Given the description of an element on the screen output the (x, y) to click on. 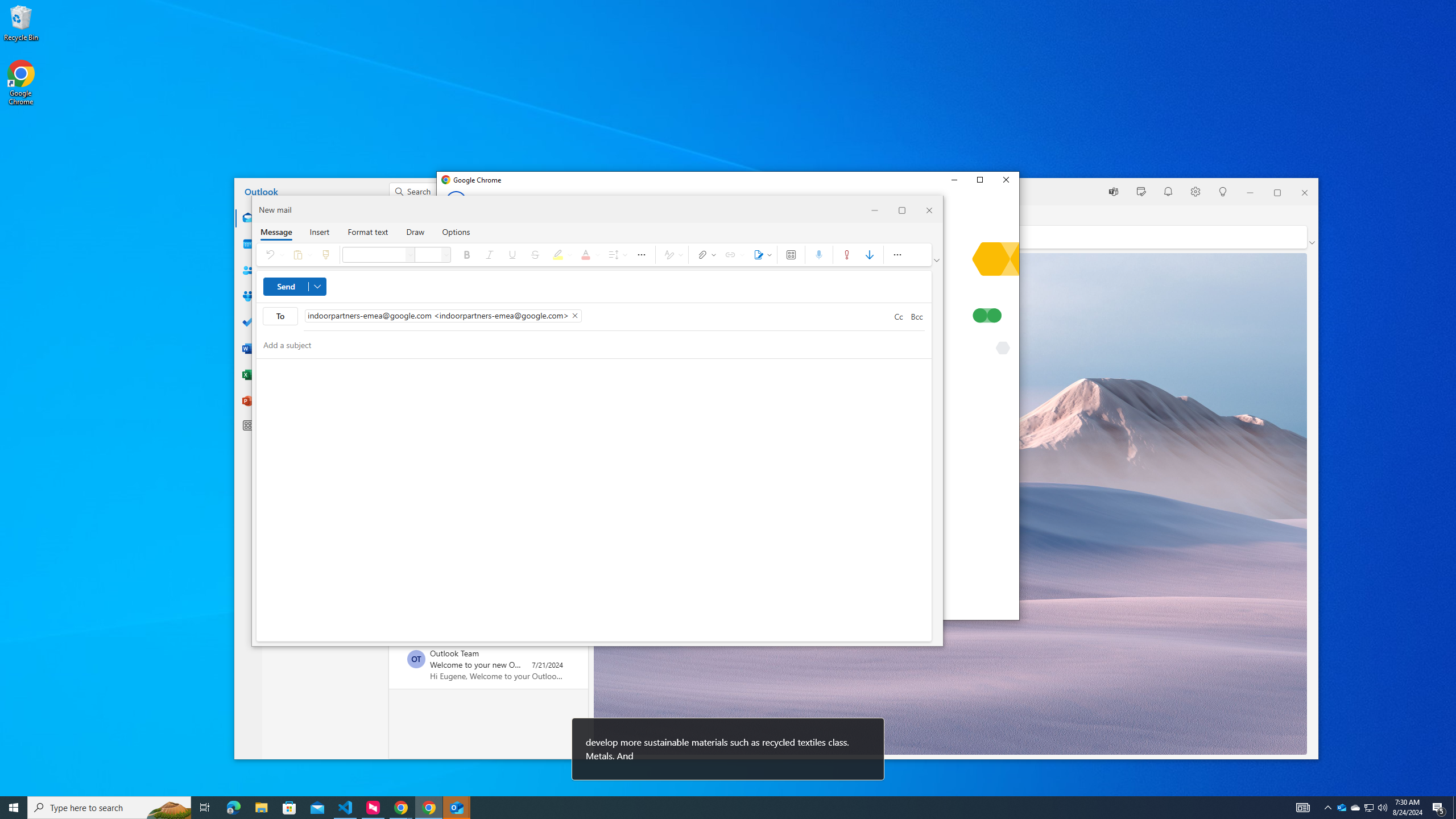
Microsoft Edge (233, 807)
System Promoted Notification Area (1341, 807)
Q2790: 100% (1382, 807)
Back from Set up your new Chrome profile page (455, 200)
Continue without an account (1355, 807)
AutomationID: 4105 (727, 502)
User Promoted Notification Area (1303, 807)
Visual Studio Code - 1 running window (1368, 807)
Show desktop (345, 807)
